Given the description of an element on the screen output the (x, y) to click on. 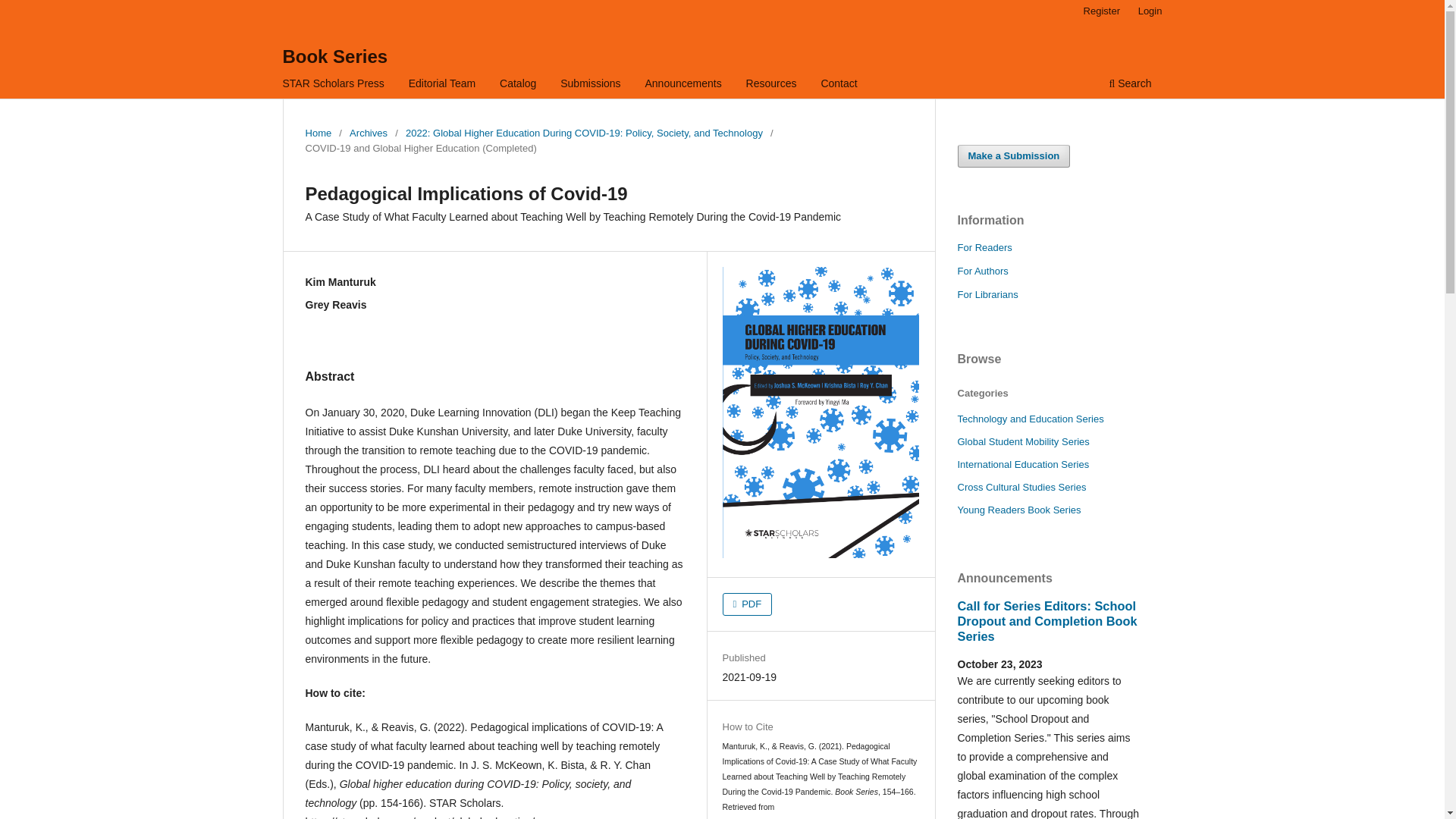
Login (1150, 11)
Archives (368, 133)
Announcements (683, 85)
Catalog (518, 85)
Resources (771, 85)
Editorial Team (441, 85)
Contact (838, 85)
Book Series (334, 56)
Submissions (590, 85)
